Given the description of an element on the screen output the (x, y) to click on. 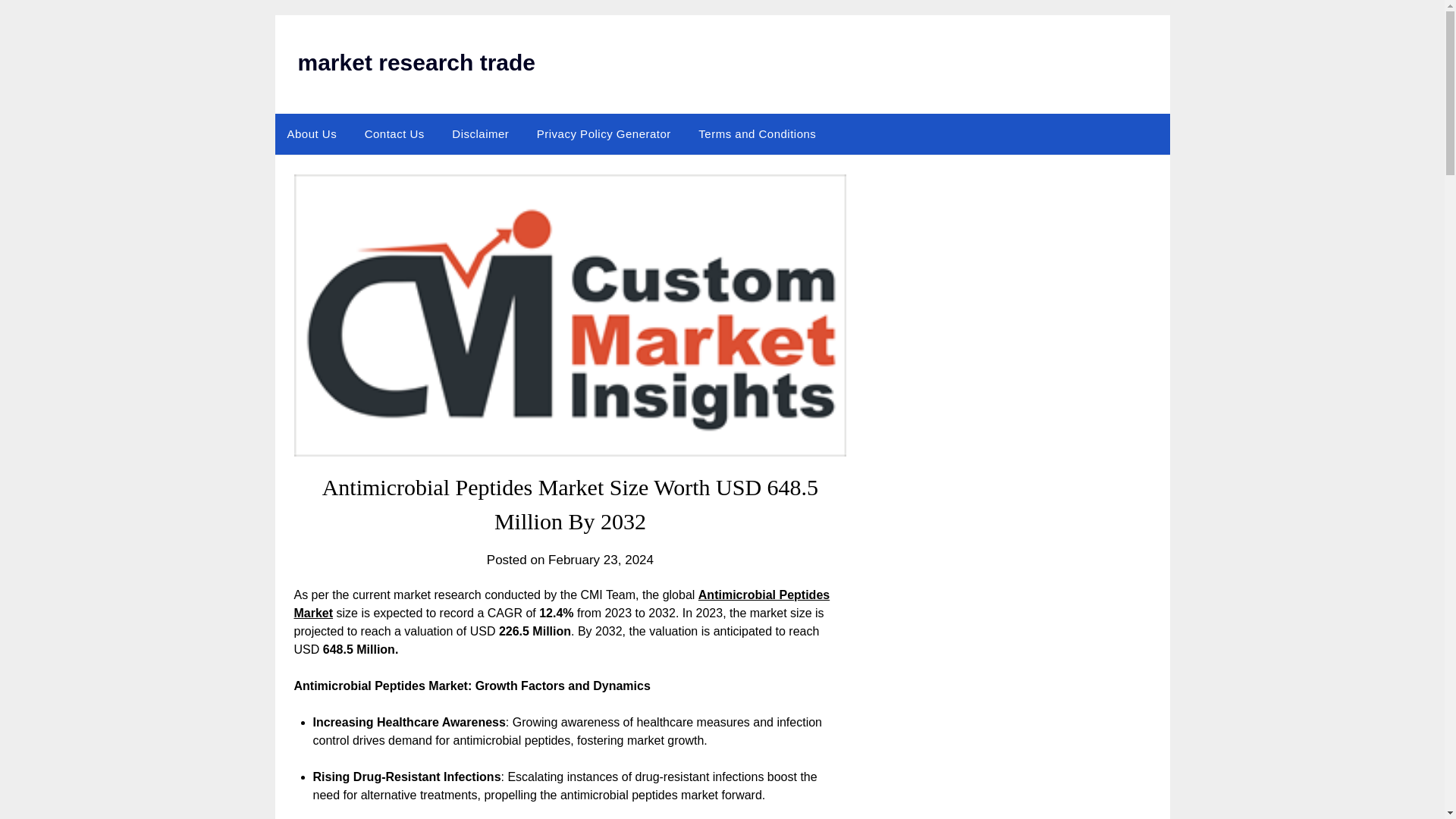
Contact Us (394, 133)
About Us (312, 133)
Disclaimer (480, 133)
Antimicrobial Peptides Market (561, 603)
Privacy Policy Generator (603, 133)
market research trade (416, 62)
Terms and Conditions (756, 133)
